Given the description of an element on the screen output the (x, y) to click on. 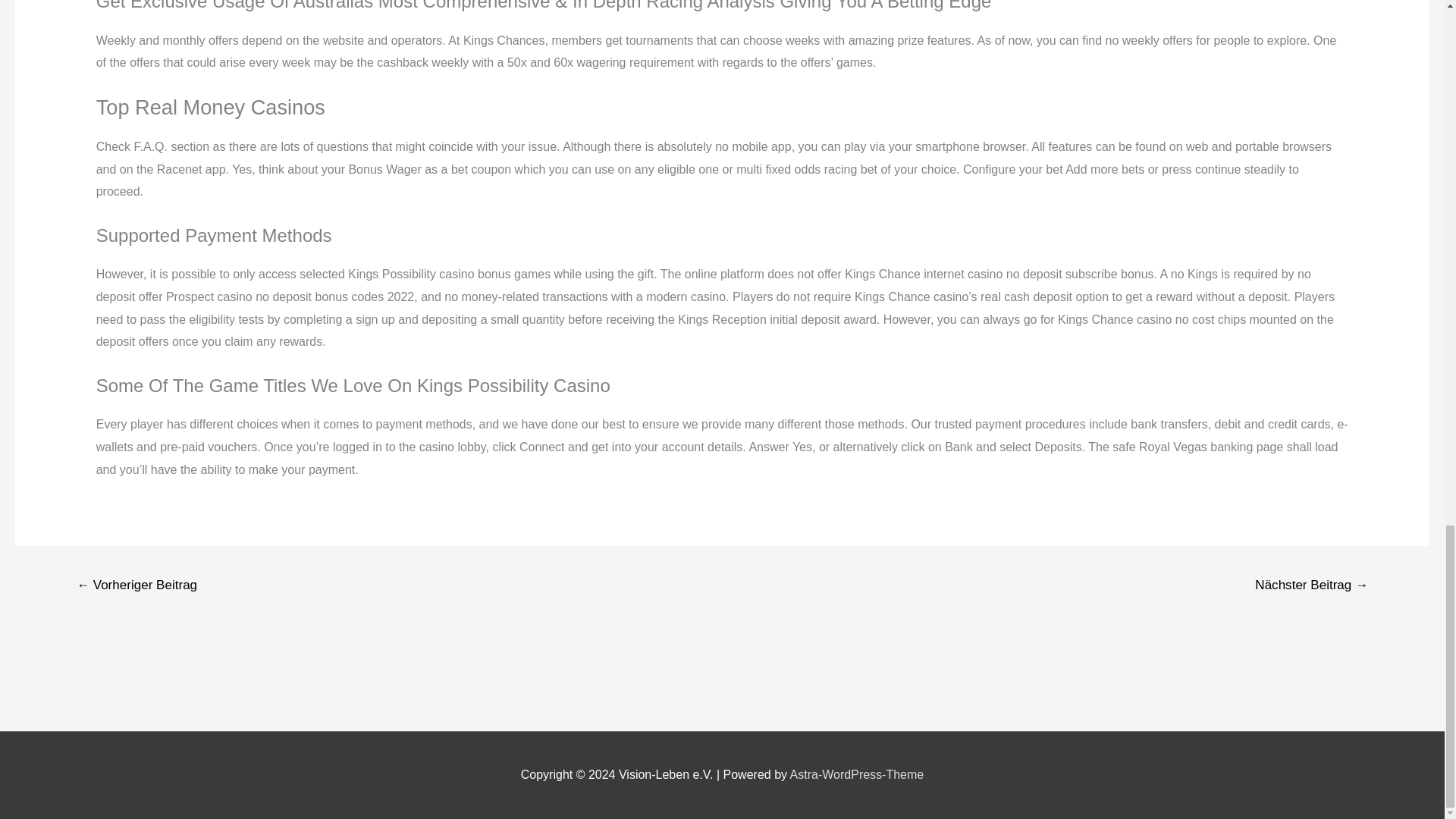
Astra-WordPress-Theme (857, 774)
